Given the description of an element on the screen output the (x, y) to click on. 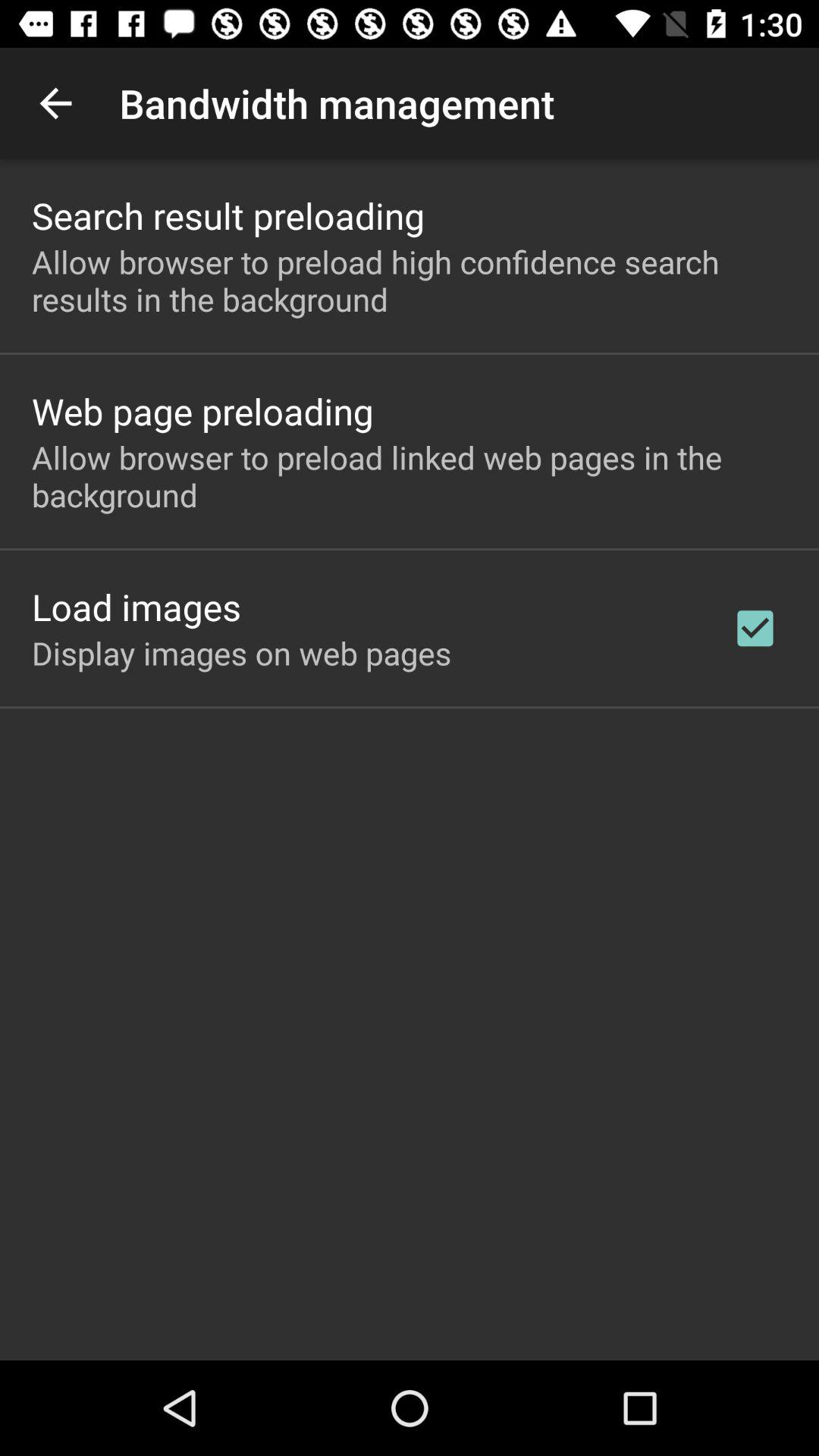
scroll until display images on (241, 652)
